Given the description of an element on the screen output the (x, y) to click on. 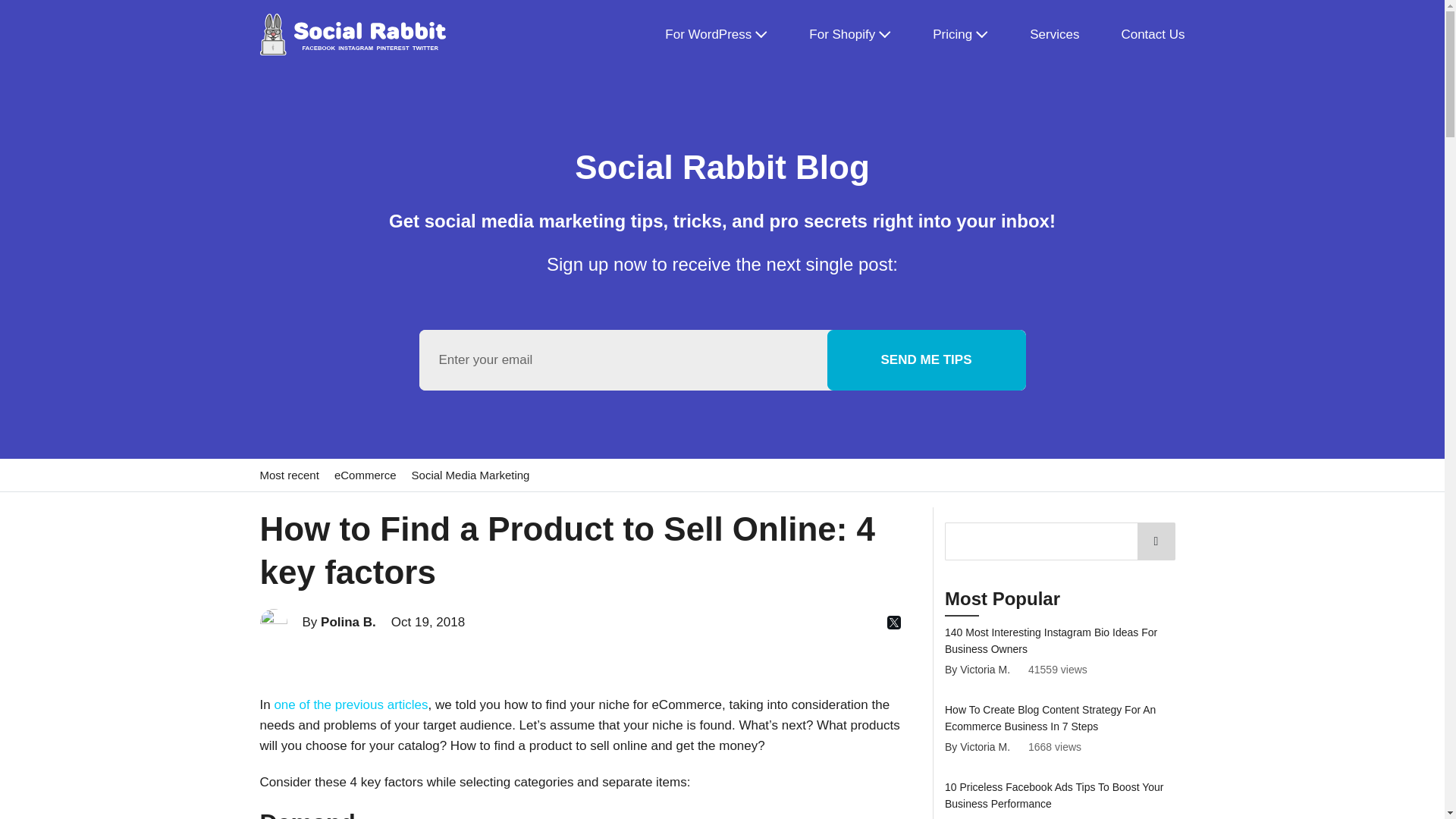
eCommerce (365, 475)
Twitter (893, 622)
SEND ME TIPS (926, 360)
Services (1053, 34)
Social Media Marketing (470, 475)
one of the previous articles (350, 704)
Contact Us (1153, 34)
For Shopify (850, 34)
Pricing (960, 34)
For WordPress (716, 34)
Most recent (288, 475)
